Given the description of an element on the screen output the (x, y) to click on. 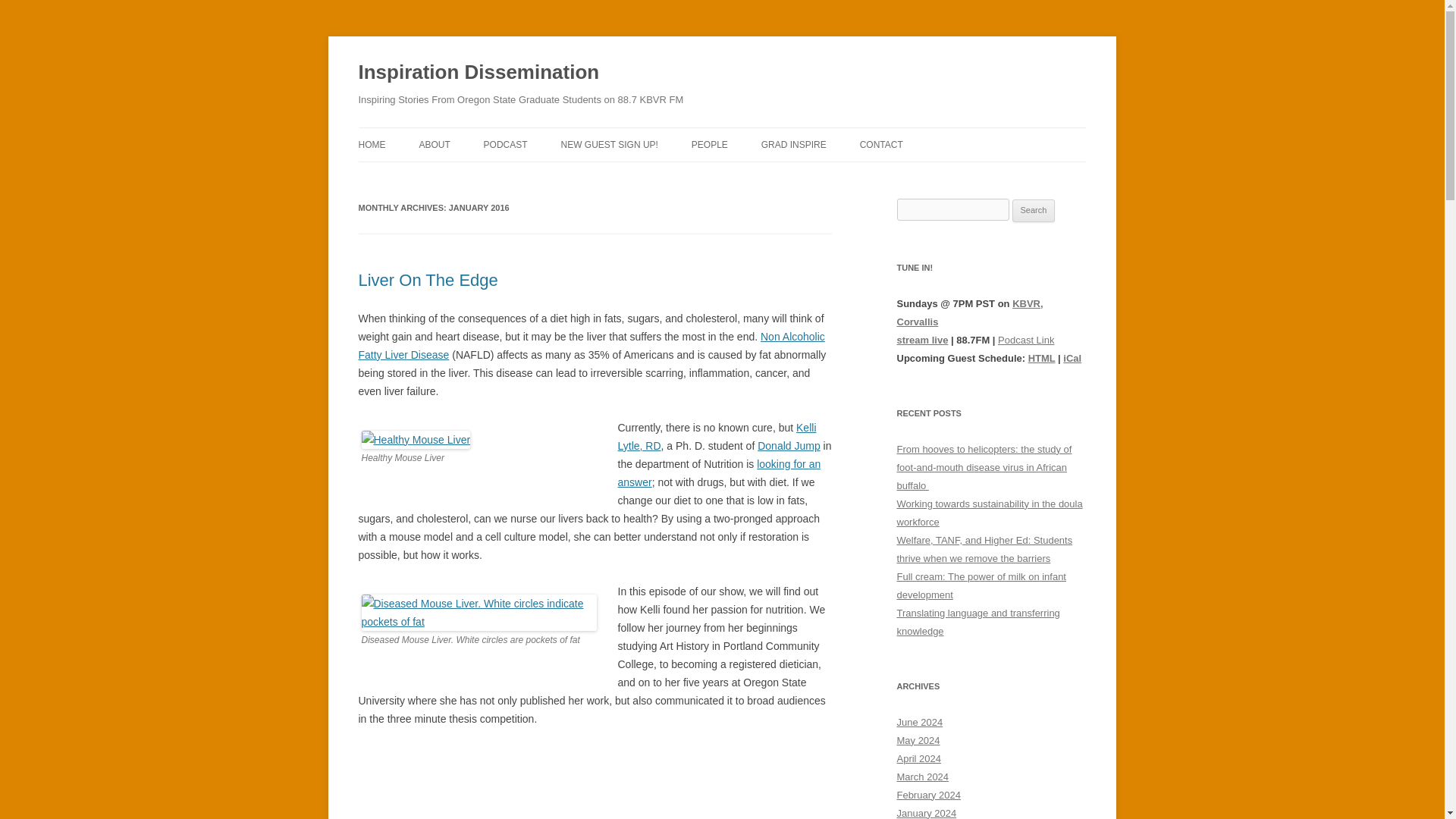
PODCAST (505, 144)
Kelli Lytle, RD (716, 436)
ABOUT (434, 144)
Non Alcoholic Fatty Liver Disease (591, 345)
CONTACT (881, 144)
Search (1033, 210)
NEW GUEST SIGN UP! (609, 144)
looking for an answer (719, 472)
Donald Jump (789, 445)
Liver On The Edge (427, 280)
Inspiration Dissemination (478, 72)
GRAD INSPIRE (794, 144)
PEOPLE (709, 144)
